Given the description of an element on the screen output the (x, y) to click on. 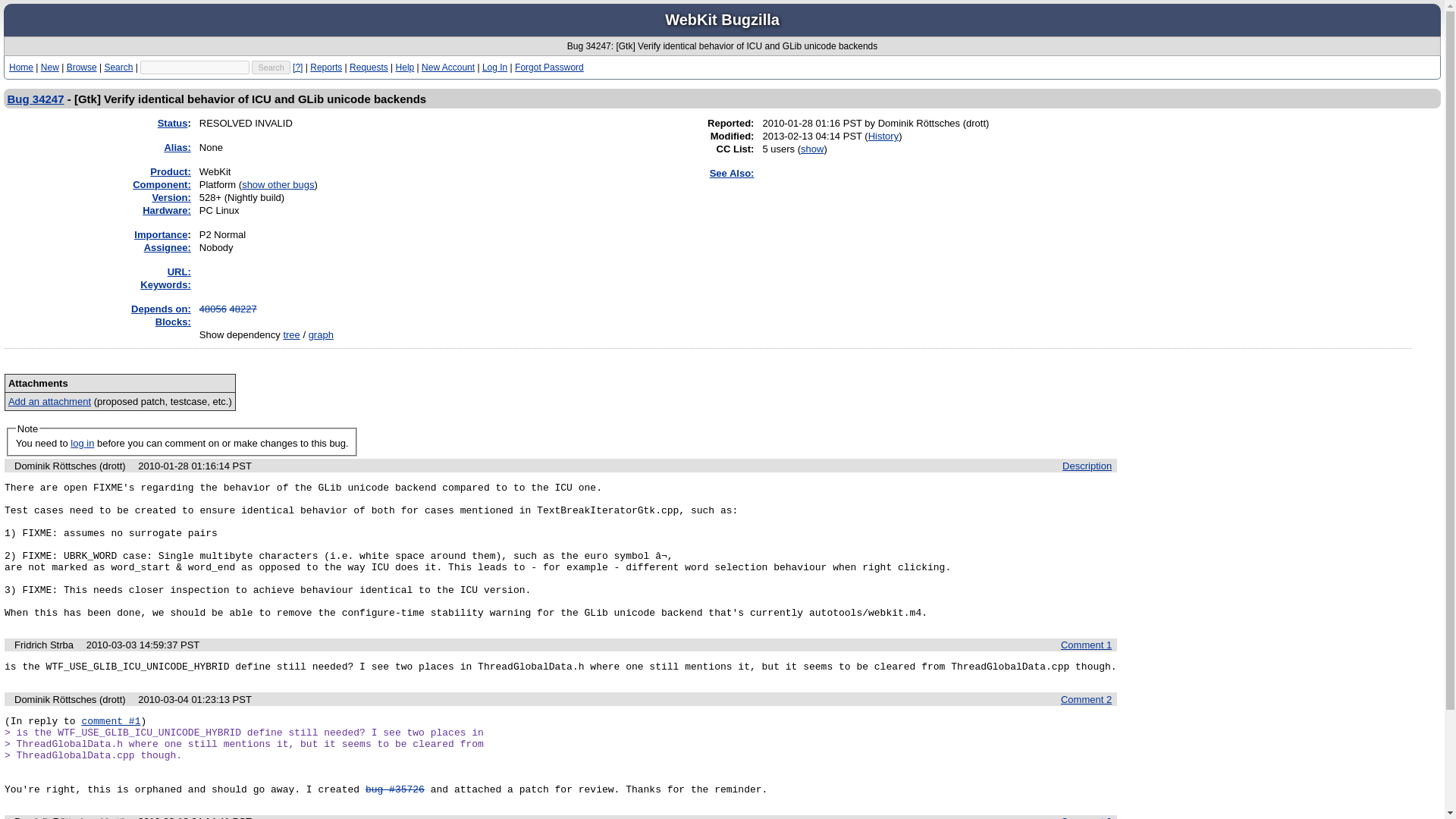
Quicksearch Help (297, 67)
See Also: (732, 173)
Alias: (176, 147)
48227 (243, 308)
Log In (493, 67)
Forgot Password (549, 67)
Hardware: (166, 210)
Help (405, 67)
The person in charge of resolving the bug. (167, 247)
